Given the description of an element on the screen output the (x, y) to click on. 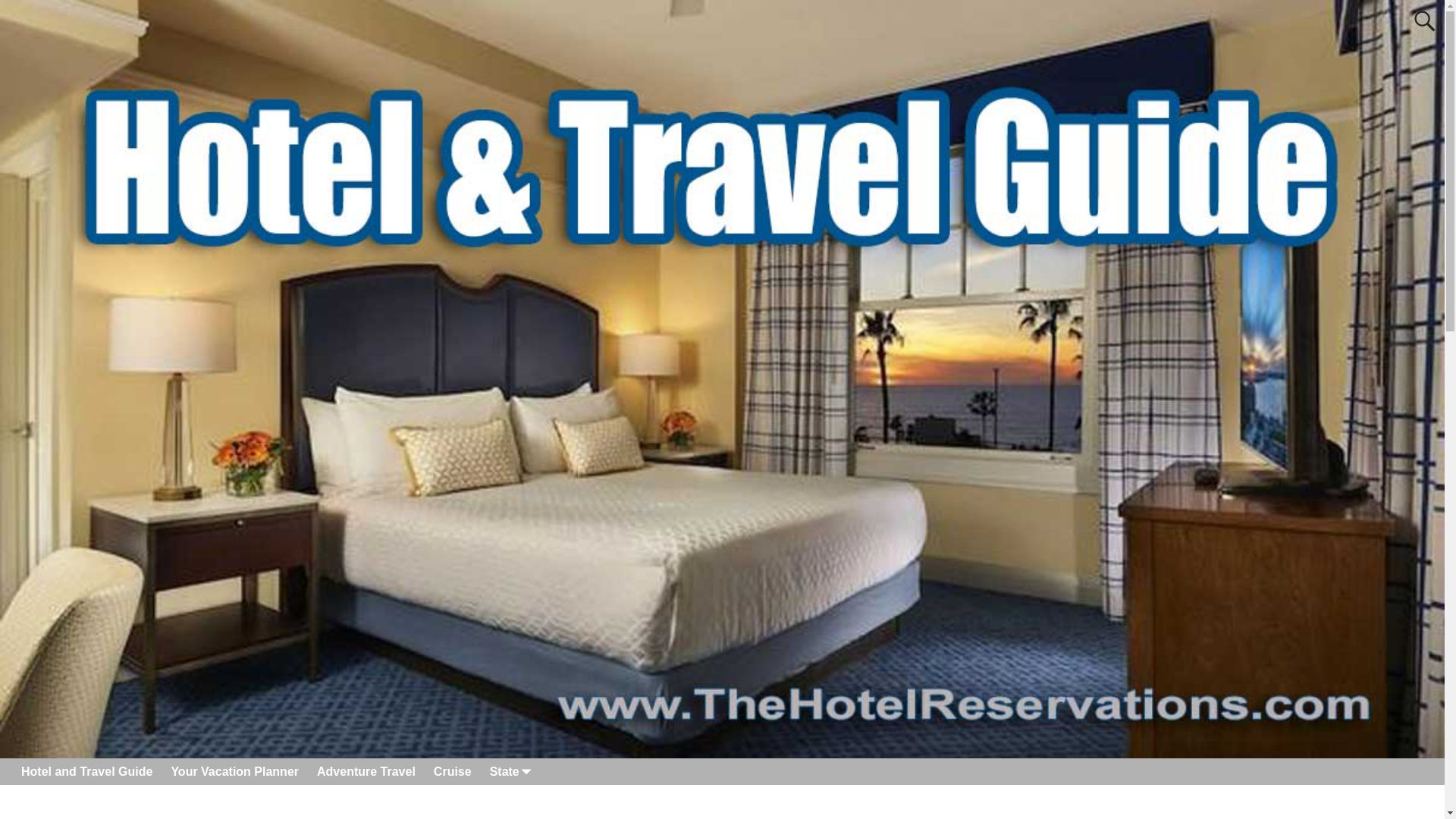
Your Vacation Planner (234, 771)
Cruise (452, 771)
State (508, 771)
Adventure Travel (366, 771)
Hotel and Travel Guide (86, 771)
